Given the description of an element on the screen output the (x, y) to click on. 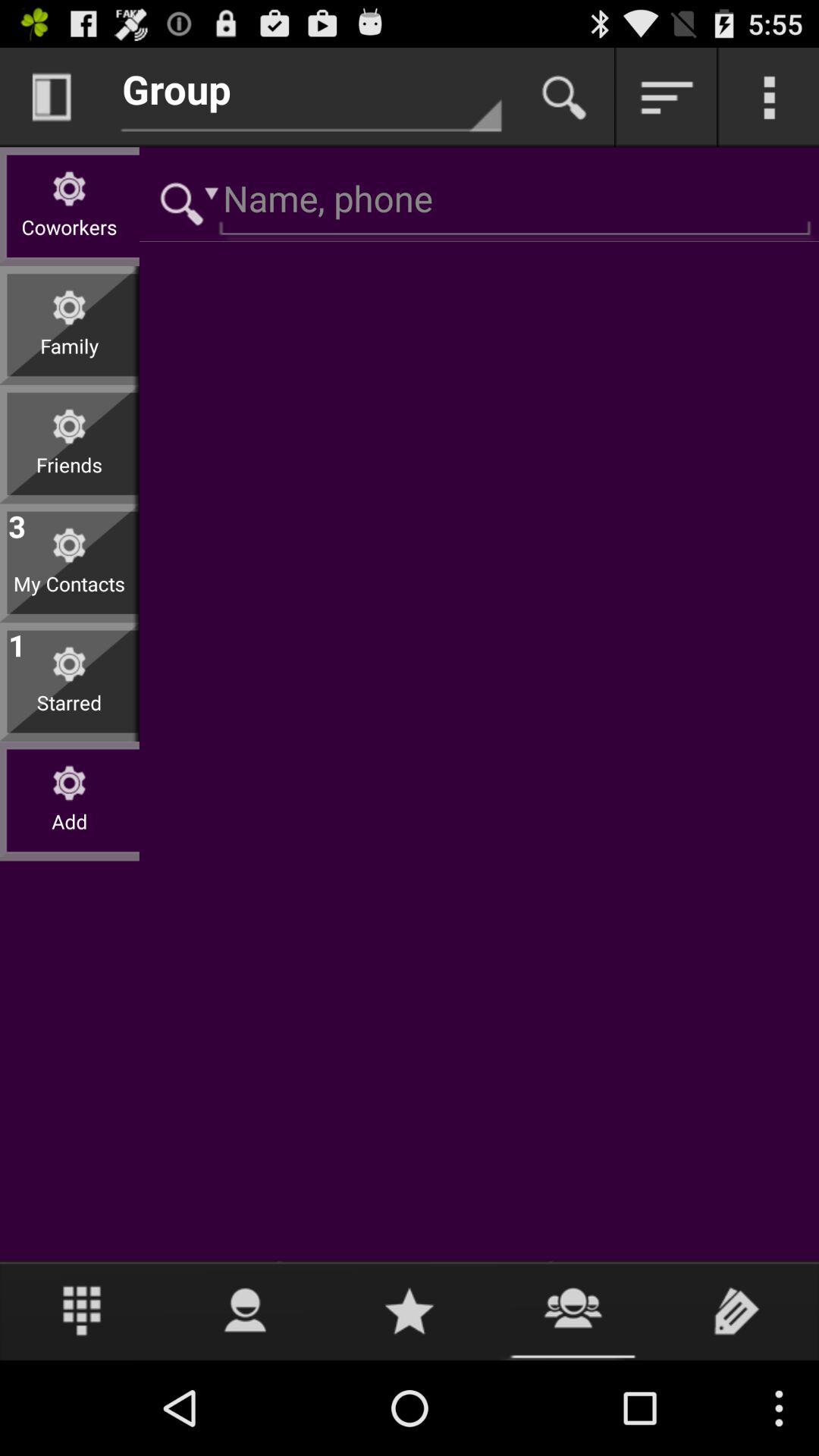
search (182, 201)
